Given the description of an element on the screen output the (x, y) to click on. 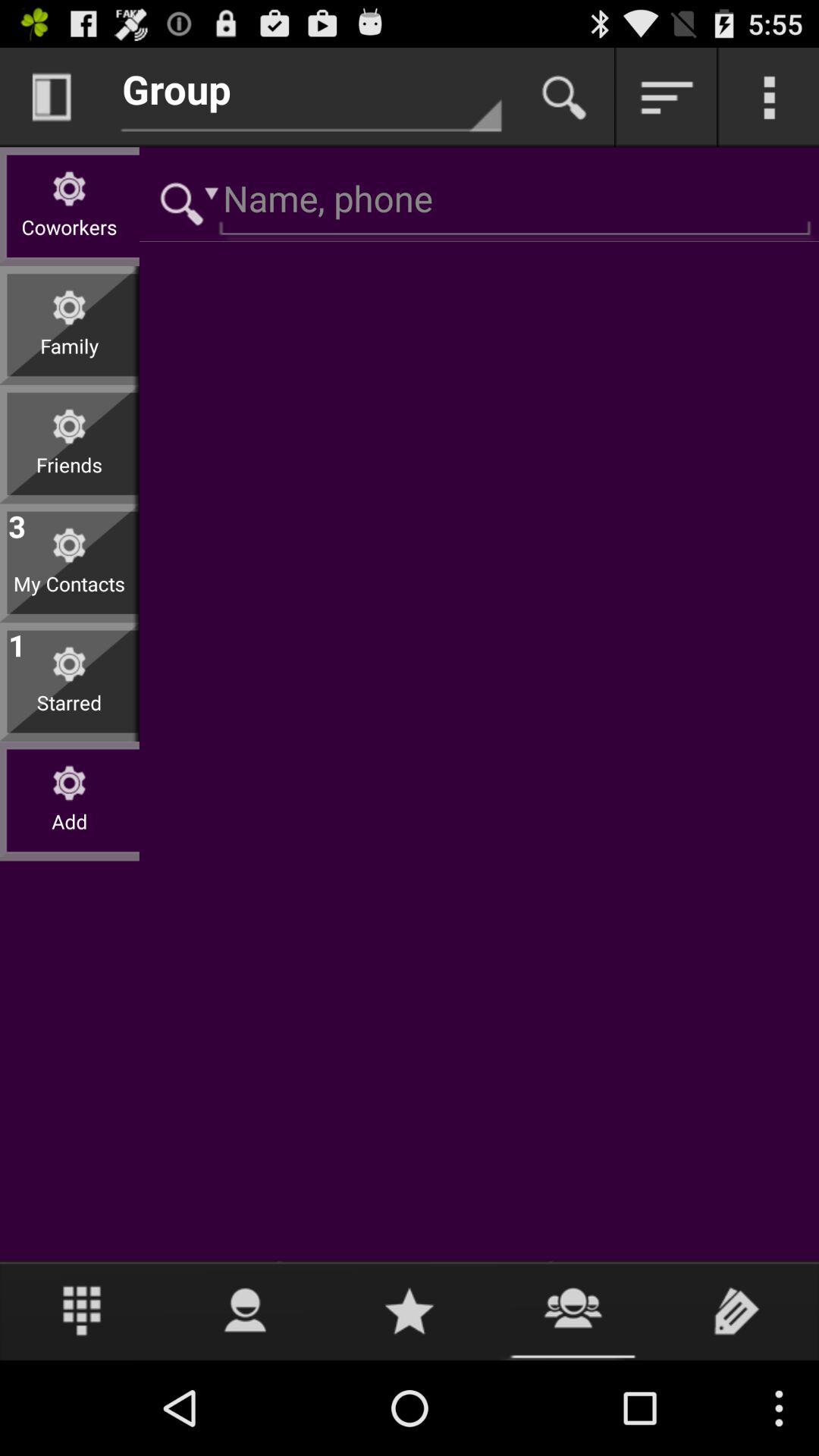
search (182, 201)
